Given the description of an element on the screen output the (x, y) to click on. 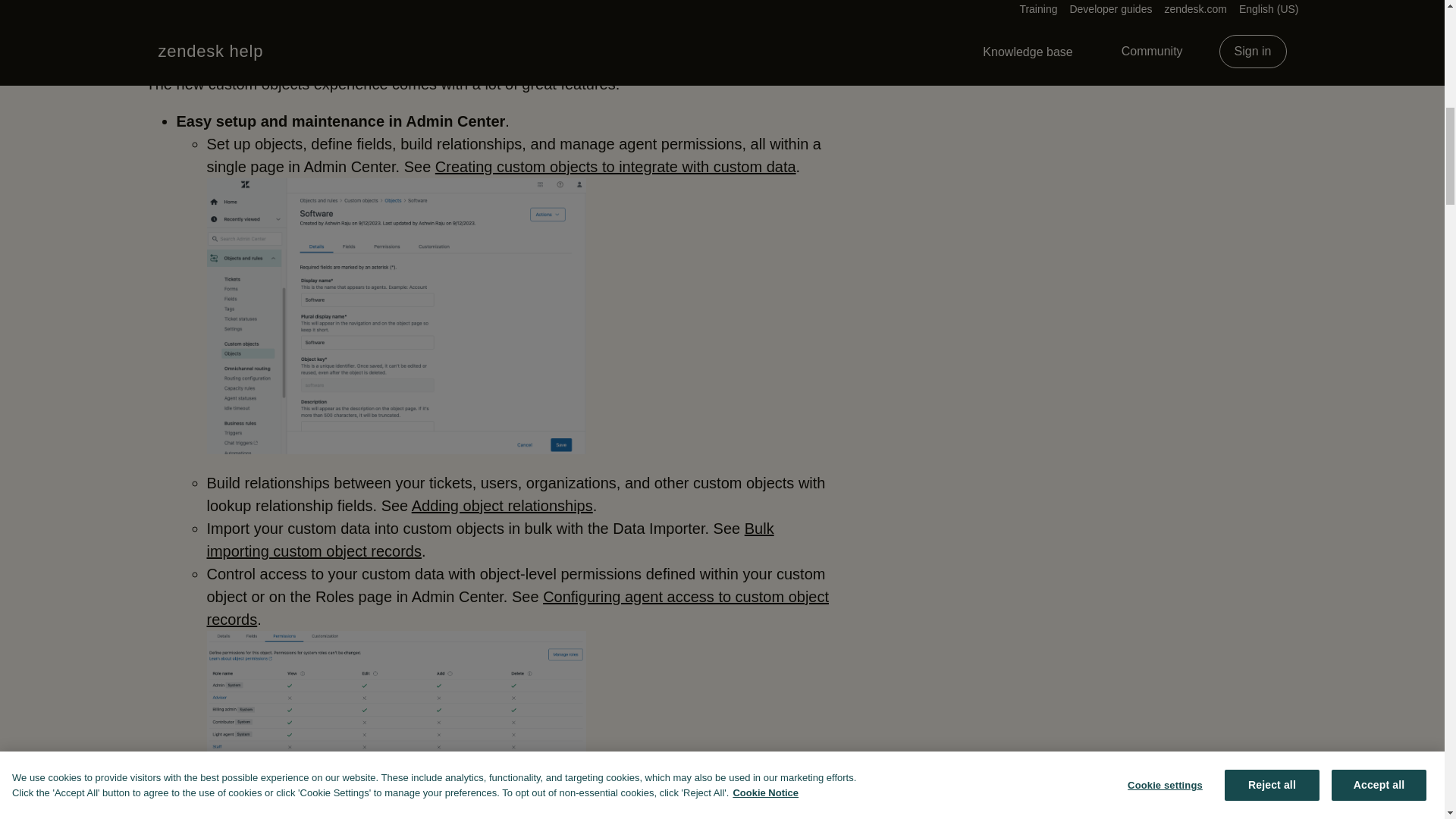
Adding object relationships (502, 505)
Bulk importing custom object records (489, 539)
Creating custom objects to integrate with custom data (615, 166)
Configuring agent access to custom object records (517, 608)
